Given the description of an element on the screen output the (x, y) to click on. 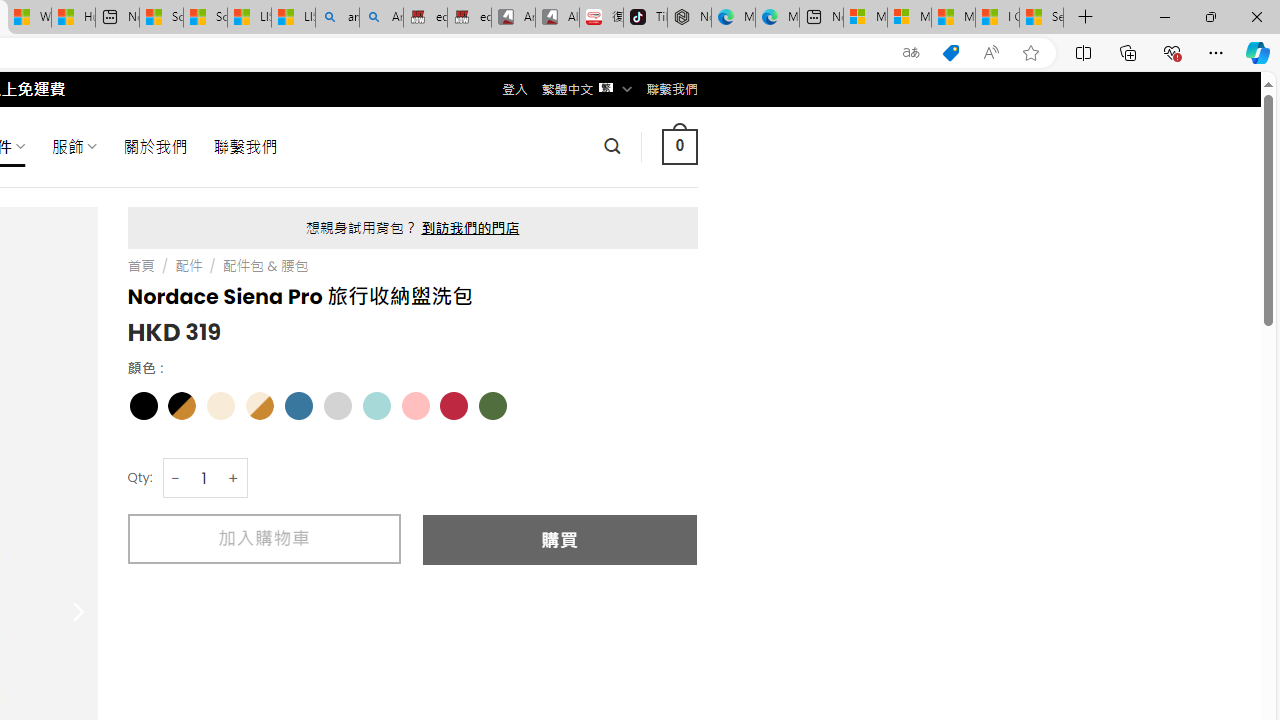
Huge shark washes ashore at New York City beach | Watch (73, 17)
 0  (679, 146)
TikTok (644, 17)
Show translate options (910, 53)
  0   (679, 146)
